Given the description of an element on the screen output the (x, y) to click on. 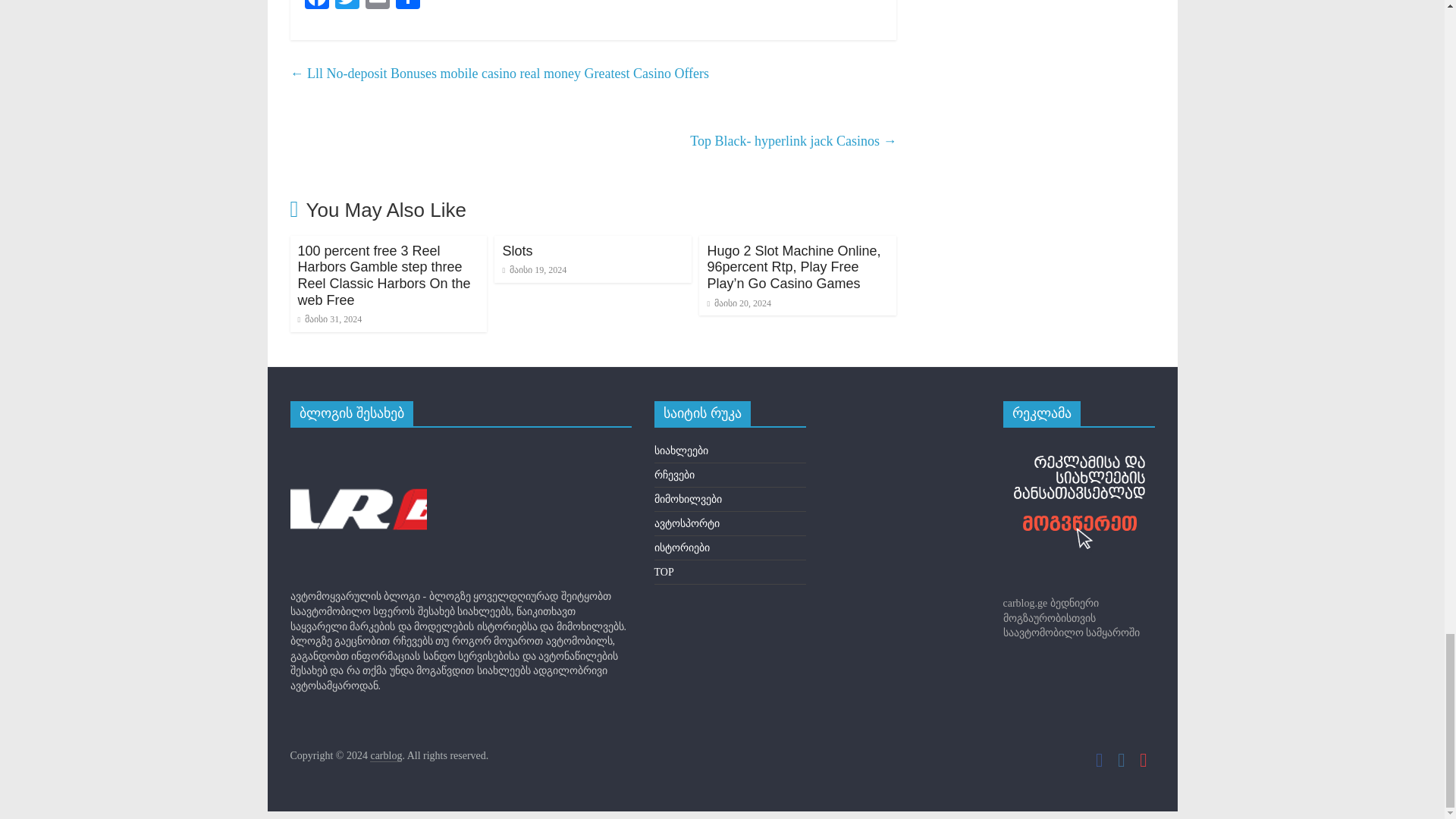
Share (408, 4)
Facebook (316, 4)
Twitter (346, 4)
Facebook (316, 4)
Email (377, 4)
Email (377, 4)
Twitter (346, 4)
